Given the description of an element on the screen output the (x, y) to click on. 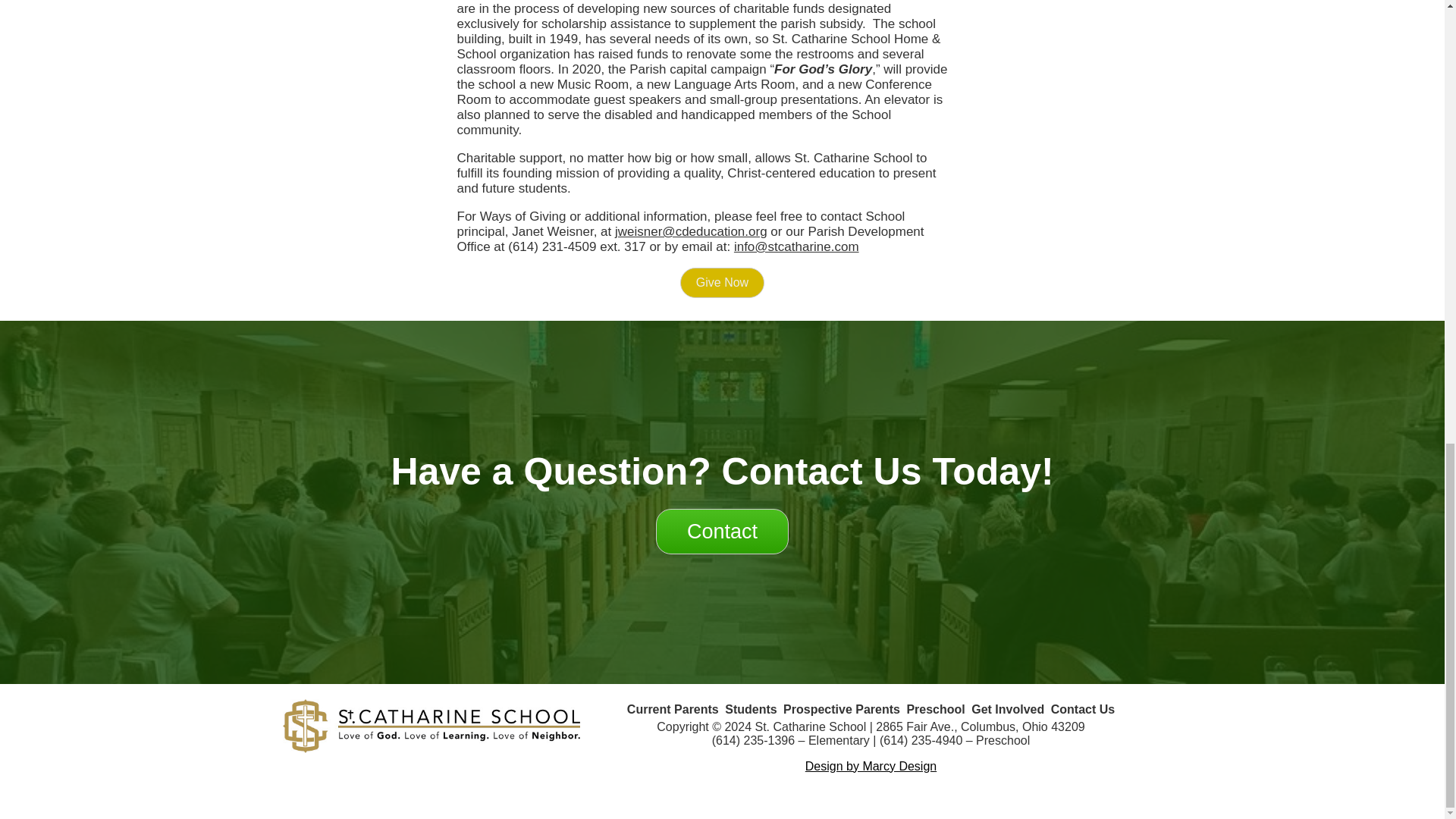
Website designed, created, and maintained by Marcy Design (870, 766)
